Given the description of an element on the screen output the (x, y) to click on. 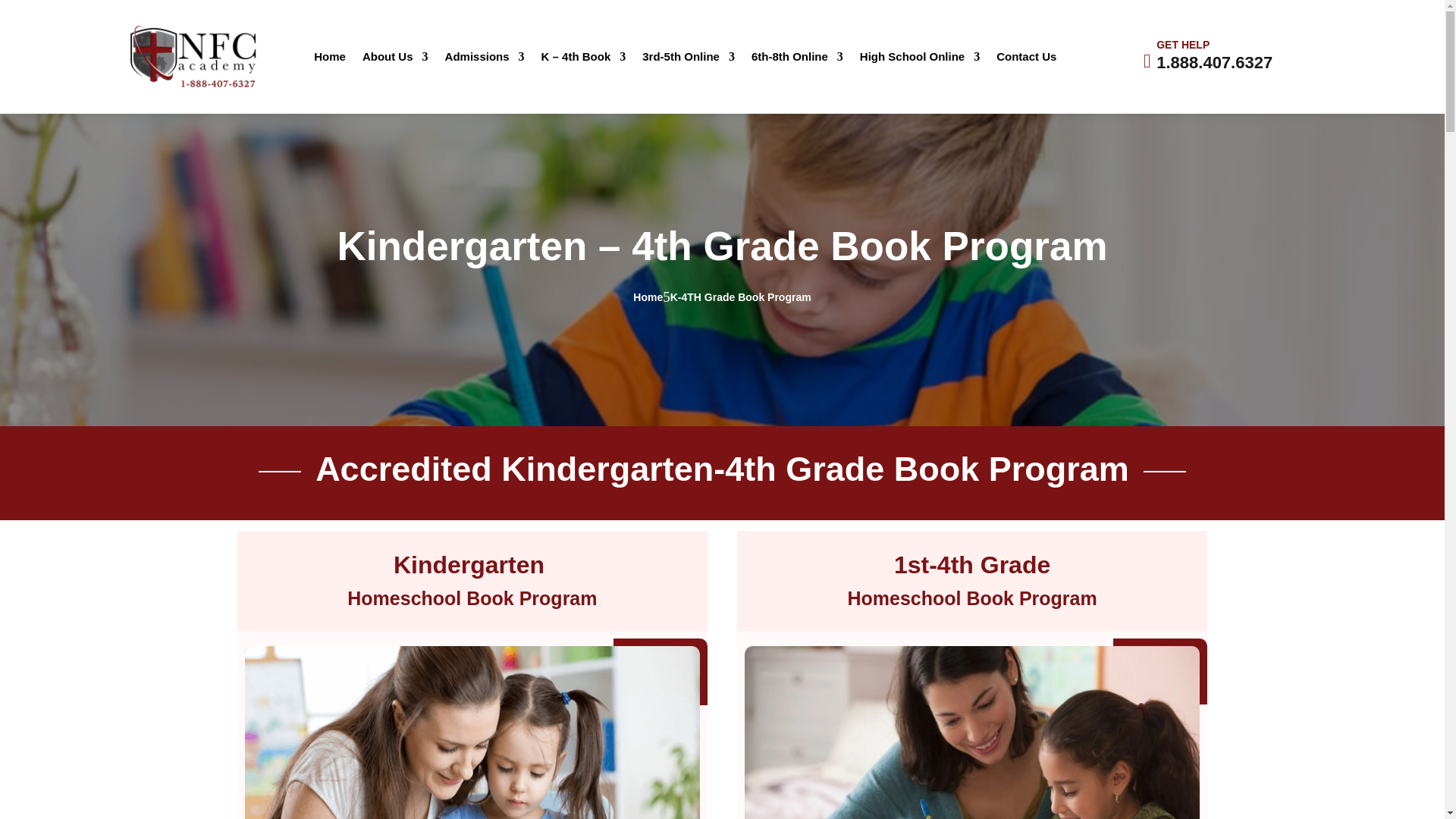
kindergarten-math-img (971, 732)
Home (330, 59)
kindergarten-teachers-img (472, 732)
Admissions (484, 59)
3rd-5th Online (688, 59)
NFC Academy (195, 56)
About Us (395, 59)
